Given the description of an element on the screen output the (x, y) to click on. 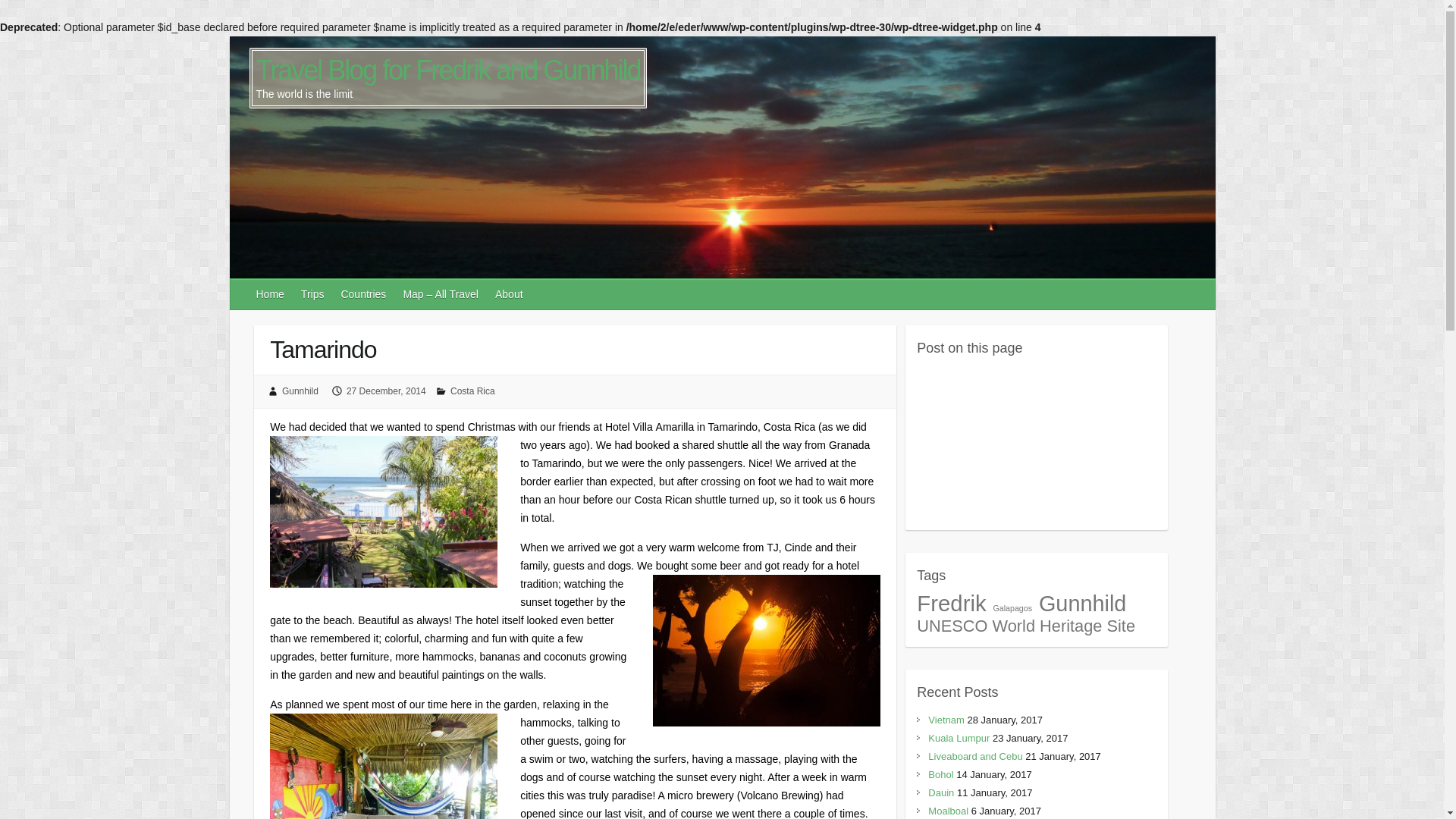
Countries (363, 294)
Travel Blog for Fredrik and Gunnhild (448, 70)
Travel Blog for Fredrik and Gunnhild (448, 70)
Trips (313, 294)
Home (271, 294)
